Given the description of an element on the screen output the (x, y) to click on. 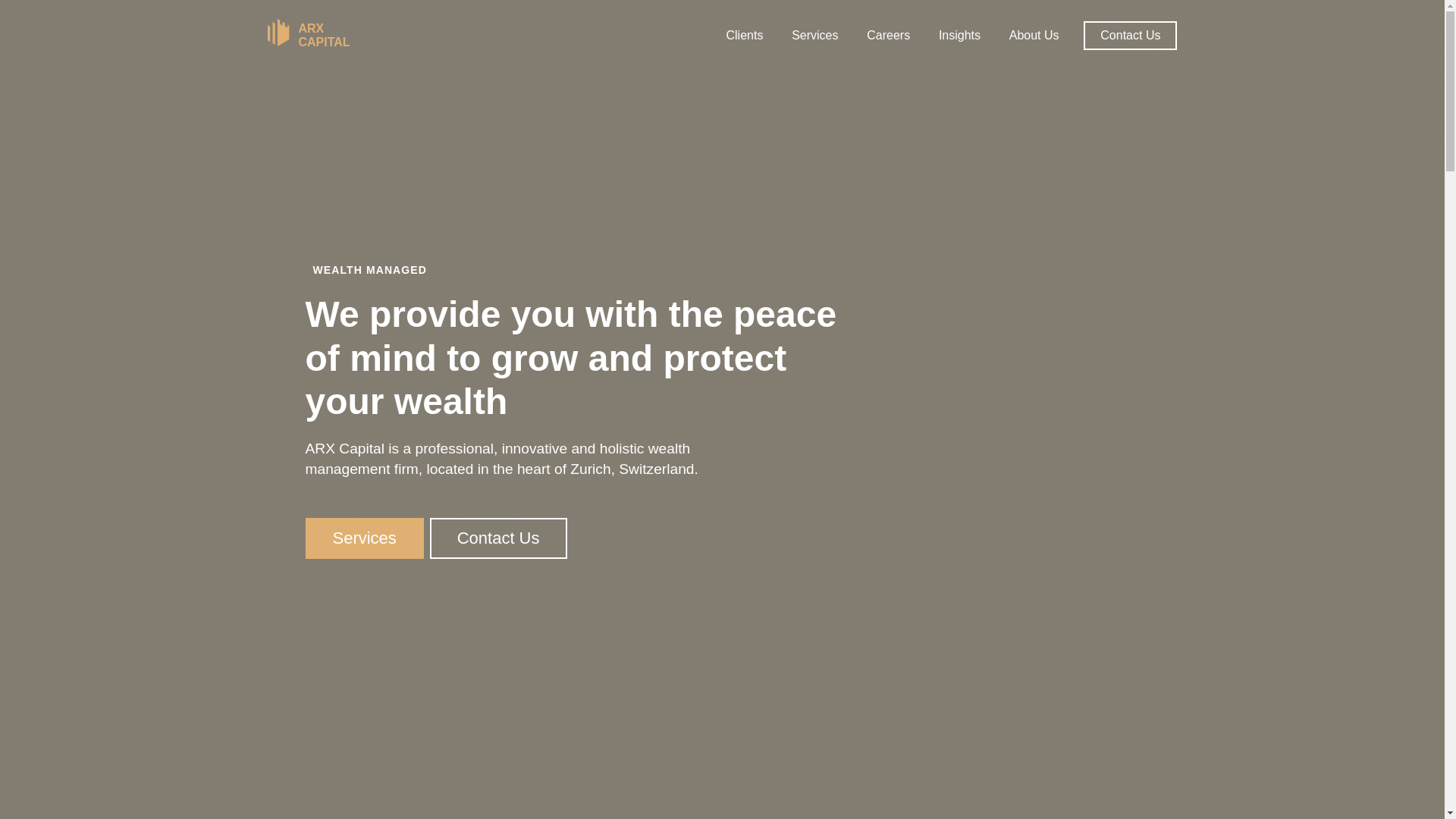
ARX
CAPITAL Element type: text (307, 34)
Careers Element type: text (887, 35)
Clients Element type: text (743, 35)
Contact Us Element type: text (1129, 35)
Services Element type: text (363, 537)
About Us Element type: text (1034, 35)
Services Element type: text (814, 35)
Insights Element type: text (959, 35)
Contact Us Element type: text (498, 537)
